Given the description of an element on the screen output the (x, y) to click on. 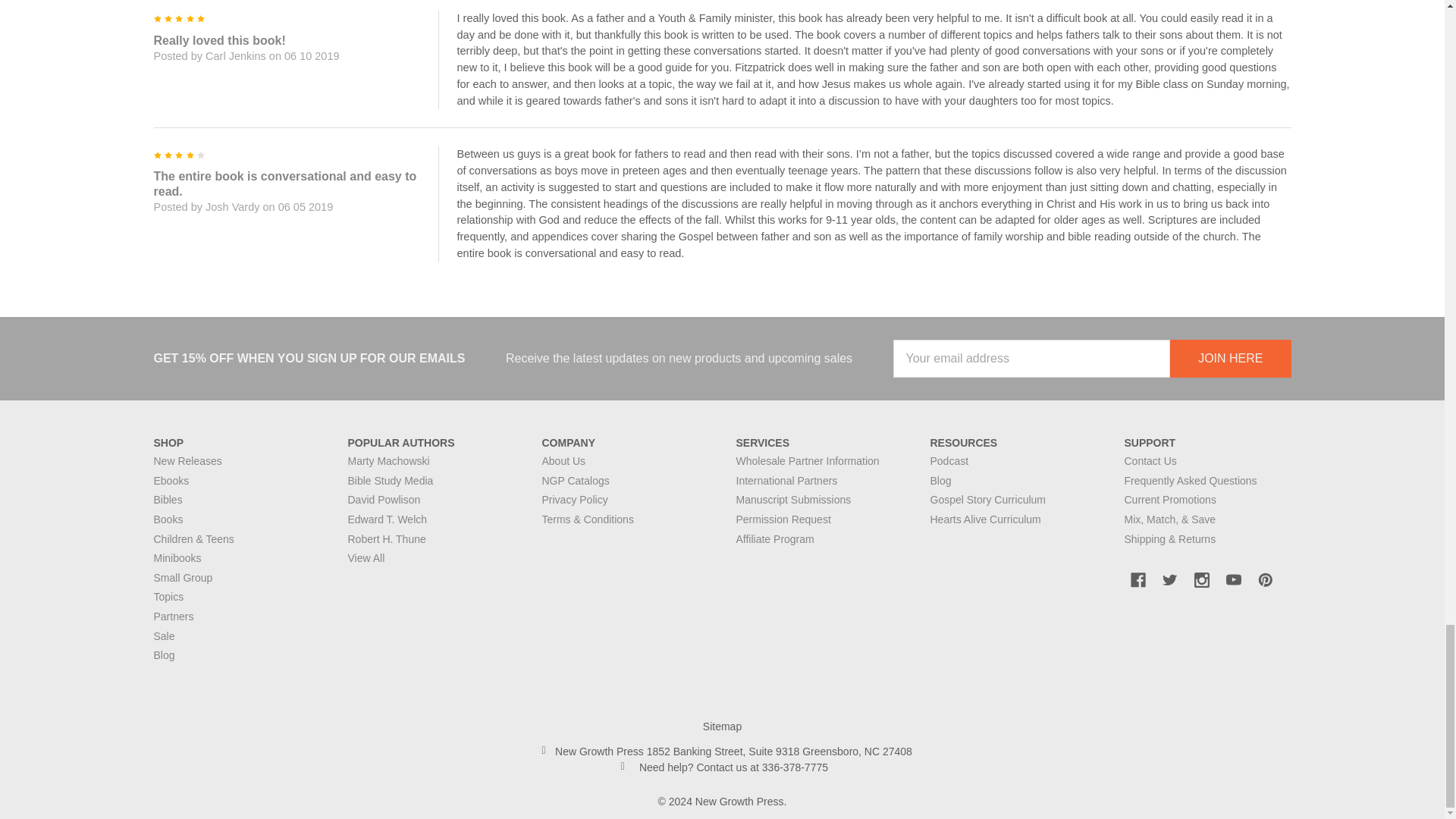
Youtube (1233, 579)
Instagram (1201, 579)
Pinterest (1264, 579)
Join Here (1230, 358)
Twitter (1169, 579)
Facebook (1137, 579)
